Given the description of an element on the screen output the (x, y) to click on. 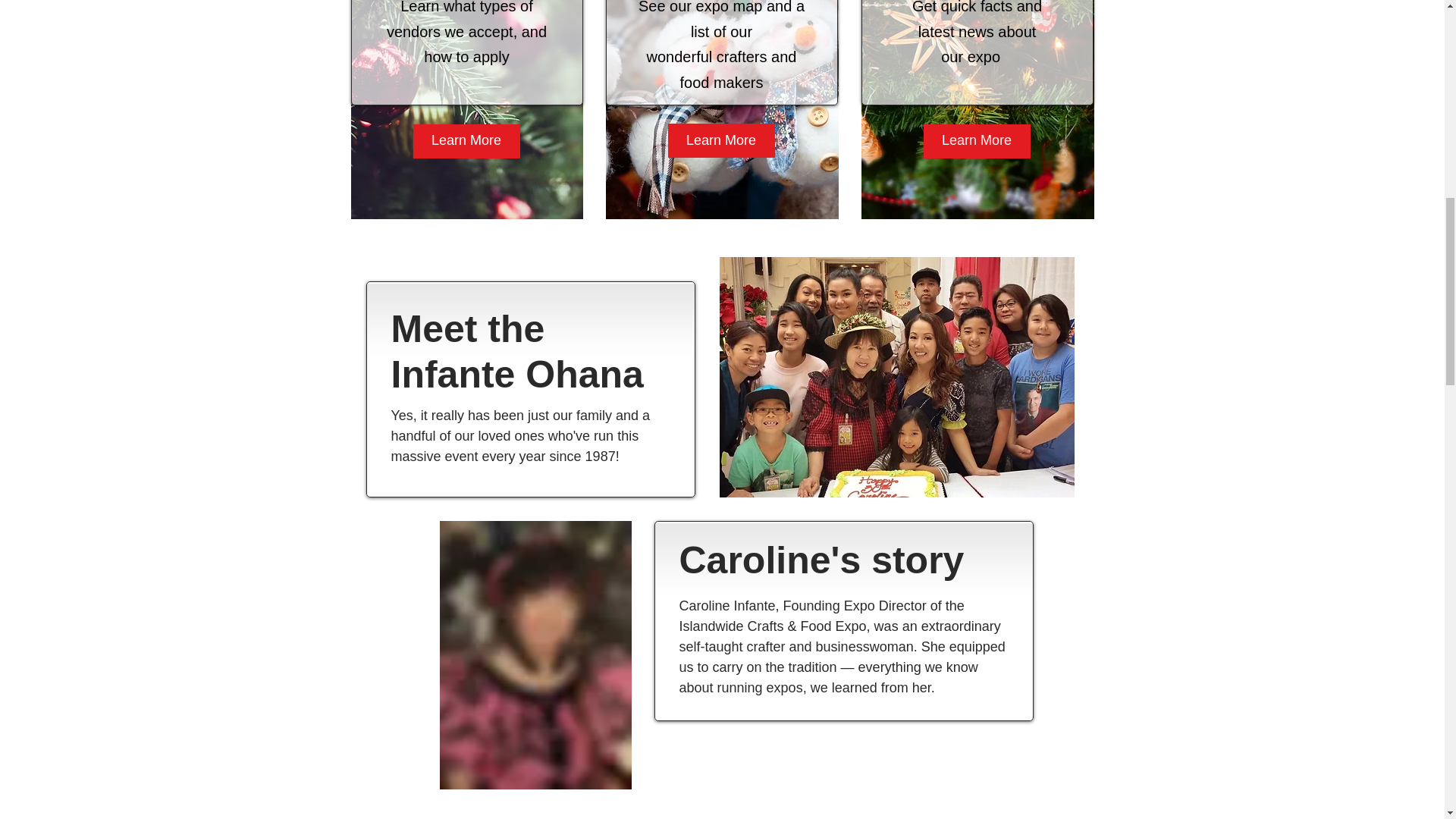
Learn More (720, 140)
Learn More (465, 141)
Meet the Infante Ohana (517, 351)
Learn More (976, 141)
Caroline's story (821, 559)
